Given the description of an element on the screen output the (x, y) to click on. 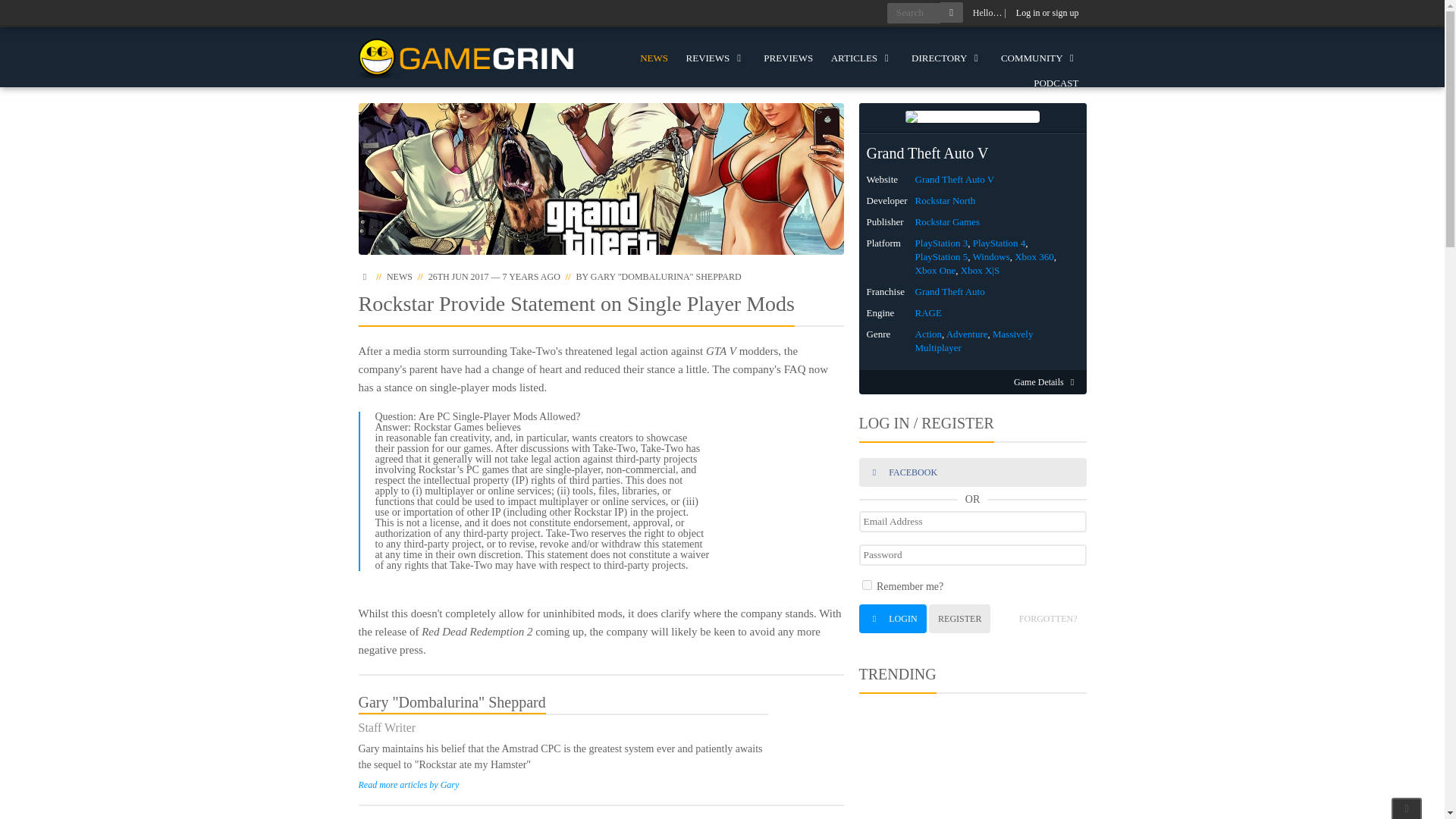
PODCAST (1056, 82)
PREVIEWS (788, 57)
Read more articles by Gary (408, 784)
COMMUNITY (1039, 57)
Password (972, 554)
GARY "DOMBALURINA" SHEPPARD (666, 276)
NEWS (653, 57)
Email Address (972, 521)
Log in or sign up (1047, 13)
REVIEWS (716, 57)
